Given the description of an element on the screen output the (x, y) to click on. 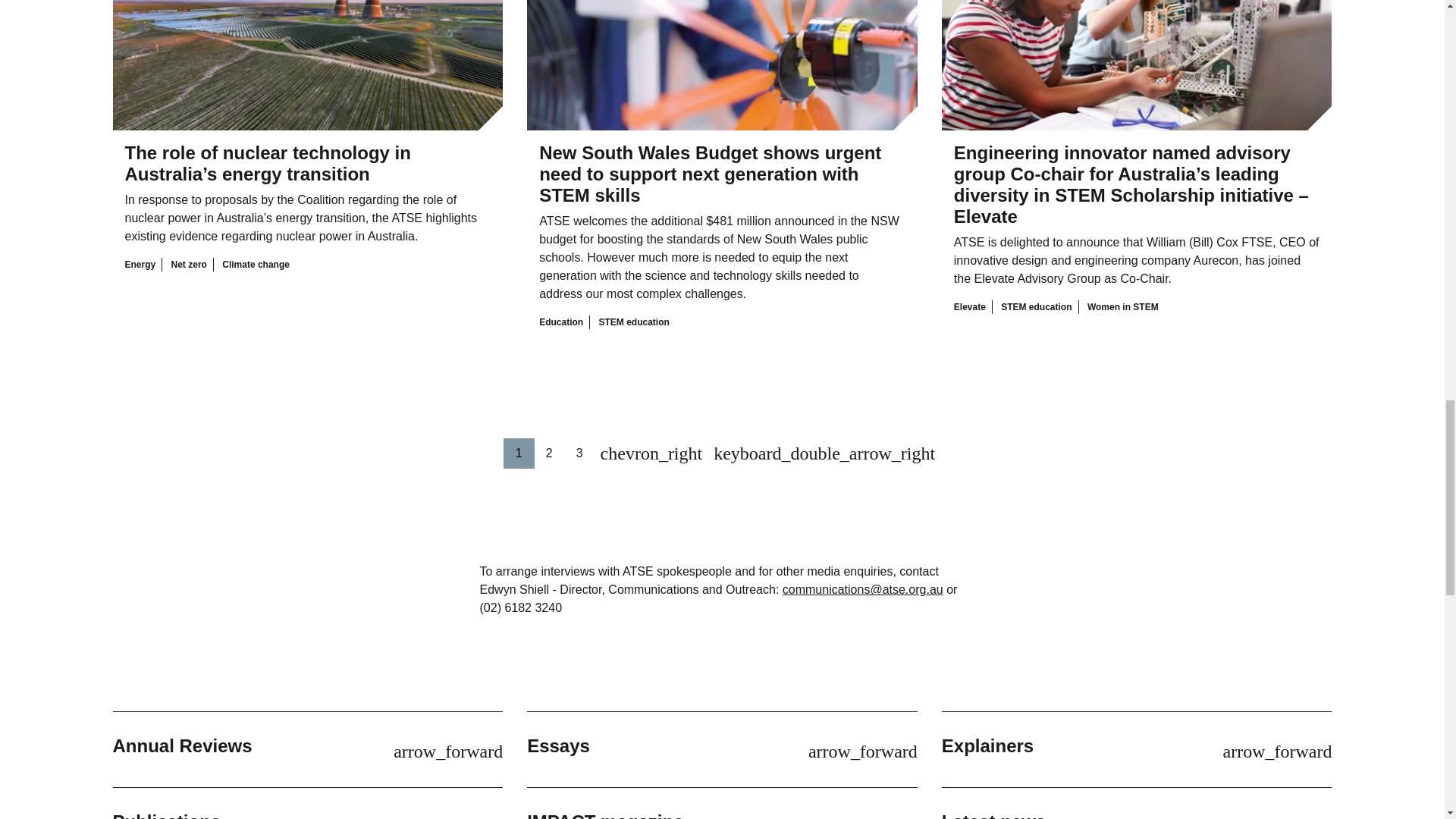
Close Up Turbine Blades (722, 81)
Istock 1490497521 (307, 65)
ATSE Elevate 5 (1137, 65)
